Given the description of an element on the screen output the (x, y) to click on. 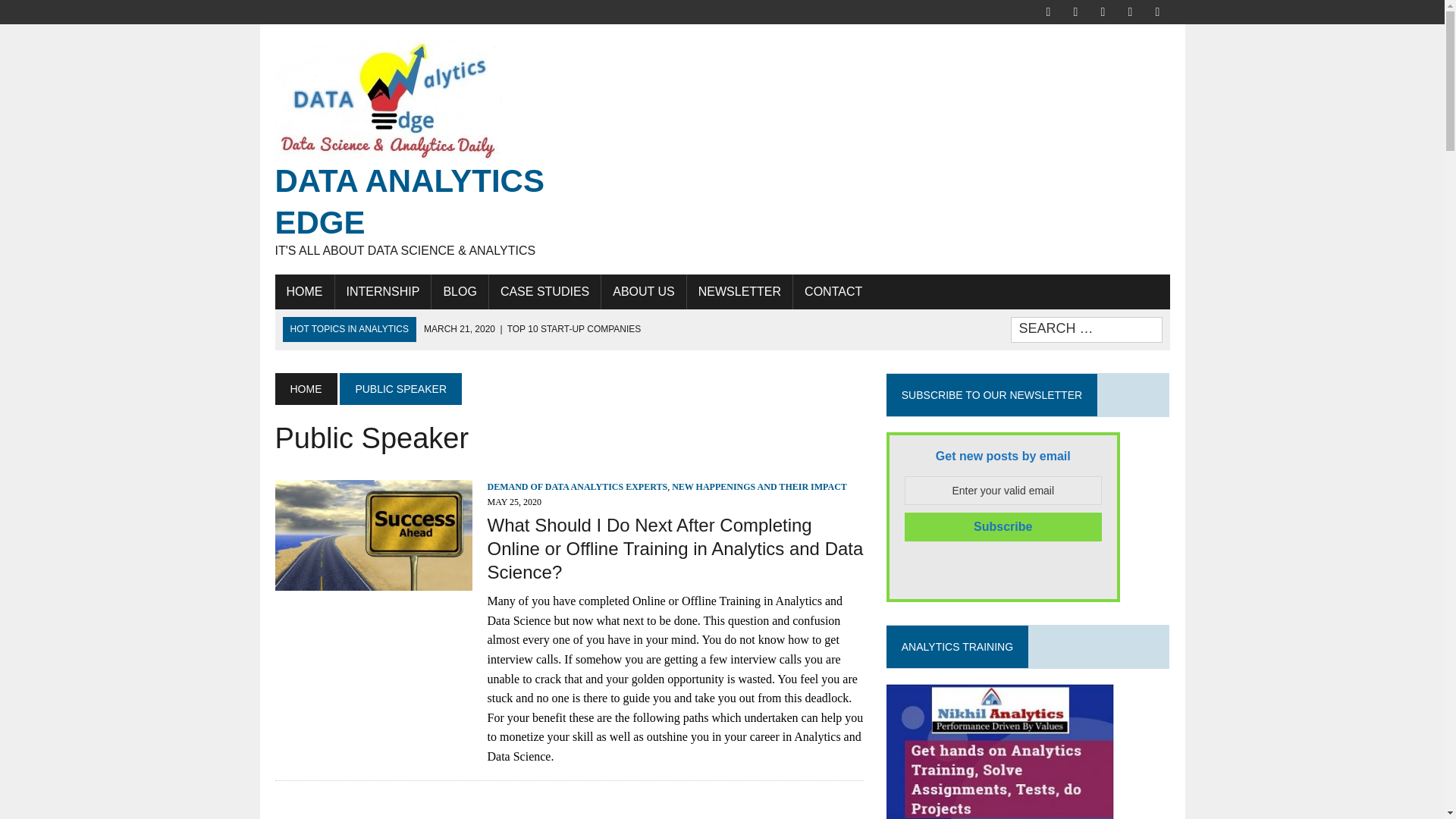
Search (75, 14)
CASE STUDIES (544, 291)
NEW HAPPENINGS AND THEIR IMPACT (759, 486)
HOME (305, 388)
Subscribe (1003, 526)
ABOUT US (643, 291)
HOME (304, 291)
CONTACT (833, 291)
Subscribe (1003, 526)
NEWSLETTER (739, 291)
Data Analytics Edge (416, 149)
DEMAND OF DATA ANALYTICS EXPERTS (576, 486)
INTERNSHIP (382, 291)
